Given the description of an element on the screen output the (x, y) to click on. 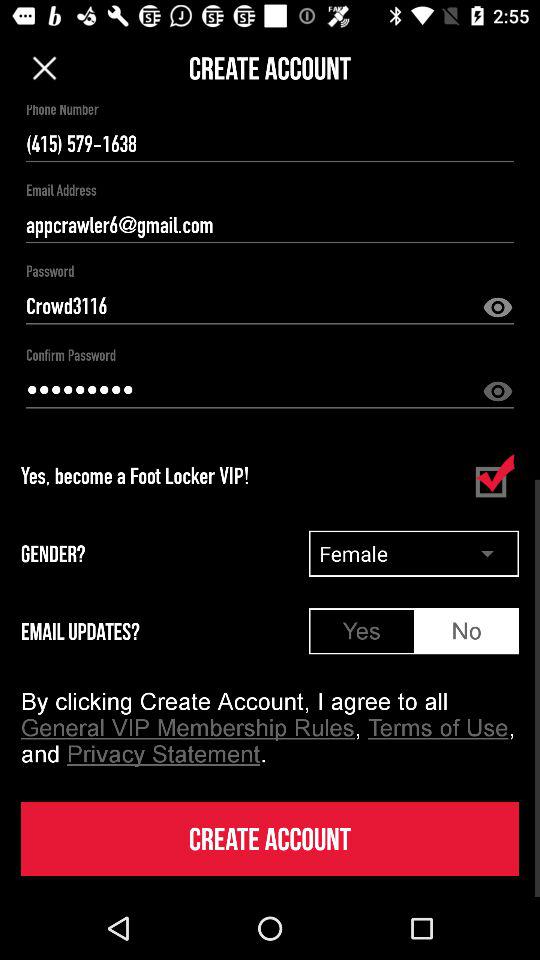
password view (498, 308)
